Given the description of an element on the screen output the (x, y) to click on. 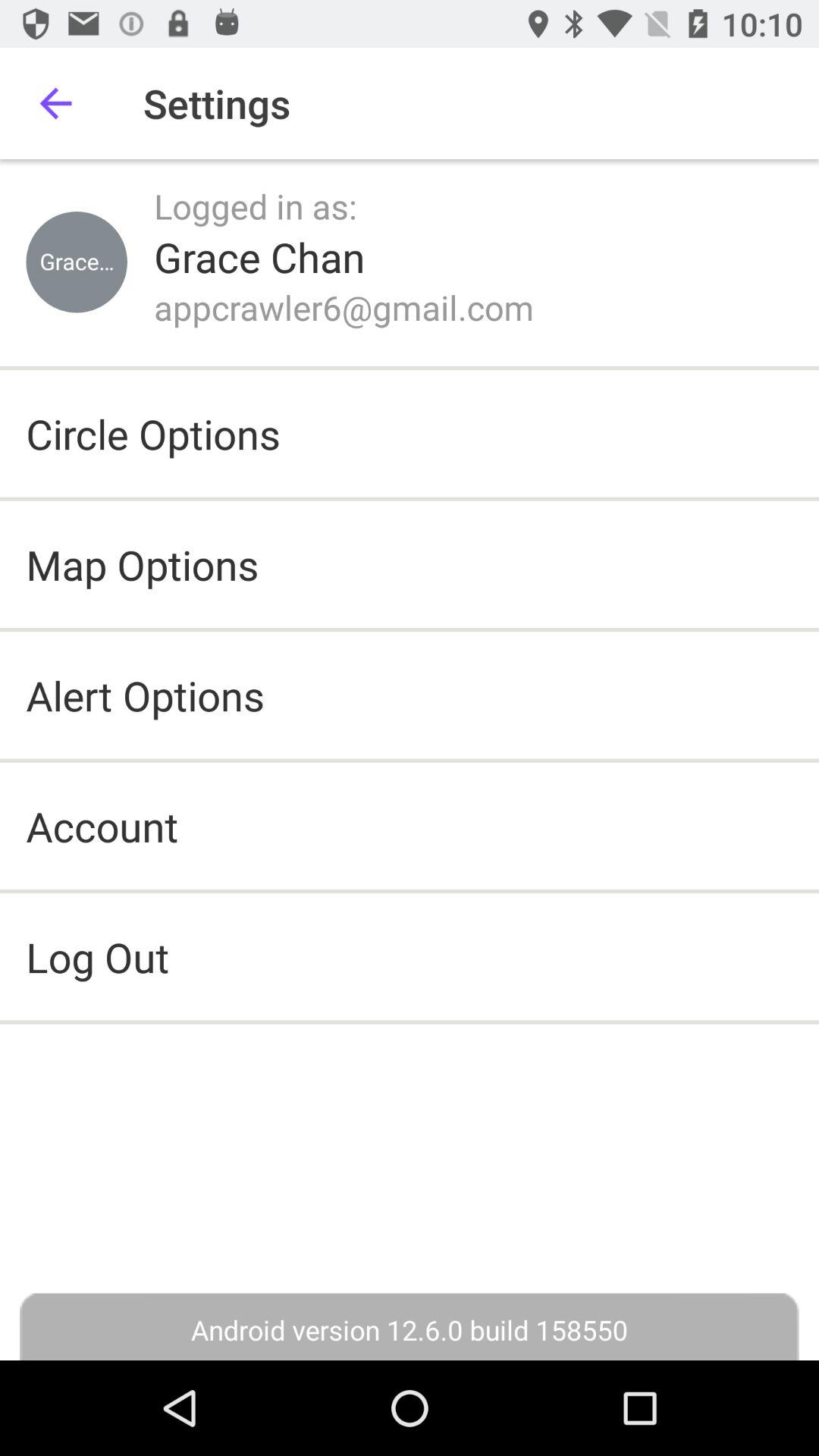
turn on the map options item (142, 564)
